Given the description of an element on the screen output the (x, y) to click on. 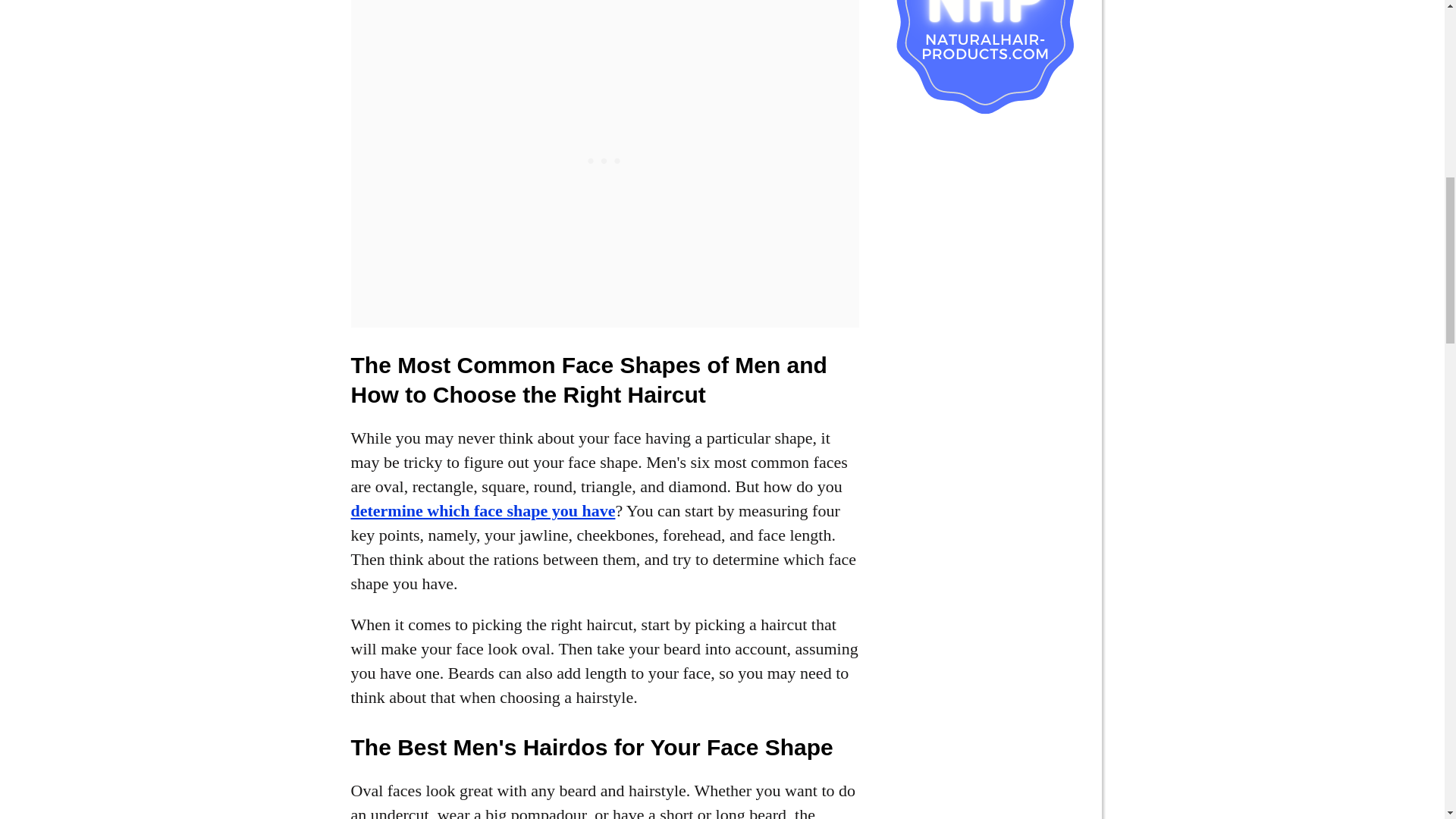
NHP naturalhair-products.com (983, 58)
determine which face shape you have (482, 509)
